Given the description of an element on the screen output the (x, y) to click on. 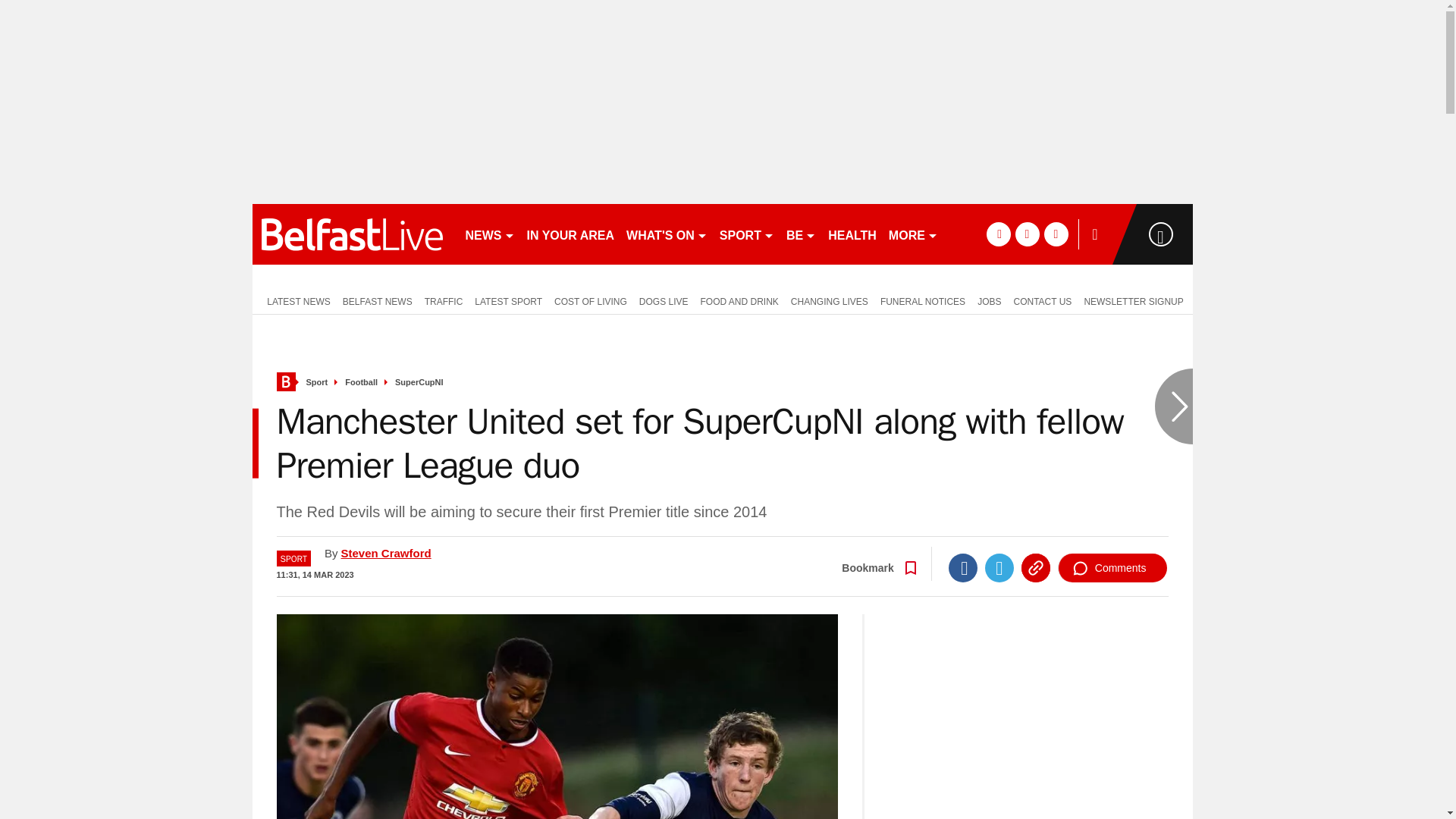
SPORT (746, 233)
Facebook (962, 567)
Twitter (999, 567)
WHAT'S ON (666, 233)
belfastlive (351, 233)
IN YOUR AREA (569, 233)
instagram (1055, 233)
twitter (1026, 233)
facebook (997, 233)
Comments (1112, 567)
